Given the description of an element on the screen output the (x, y) to click on. 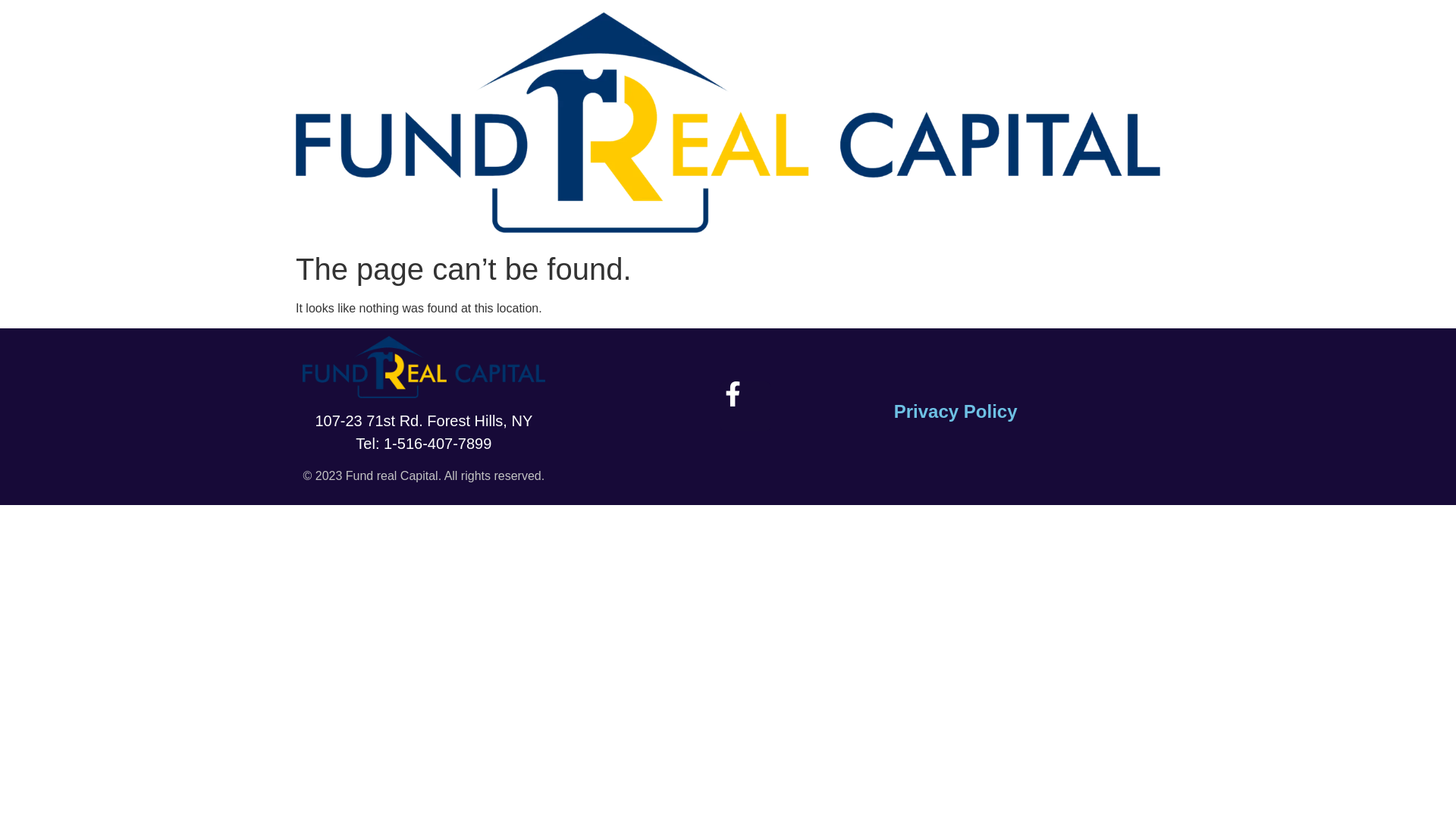
Privacy Policy (955, 411)
